Given the description of an element on the screen output the (x, y) to click on. 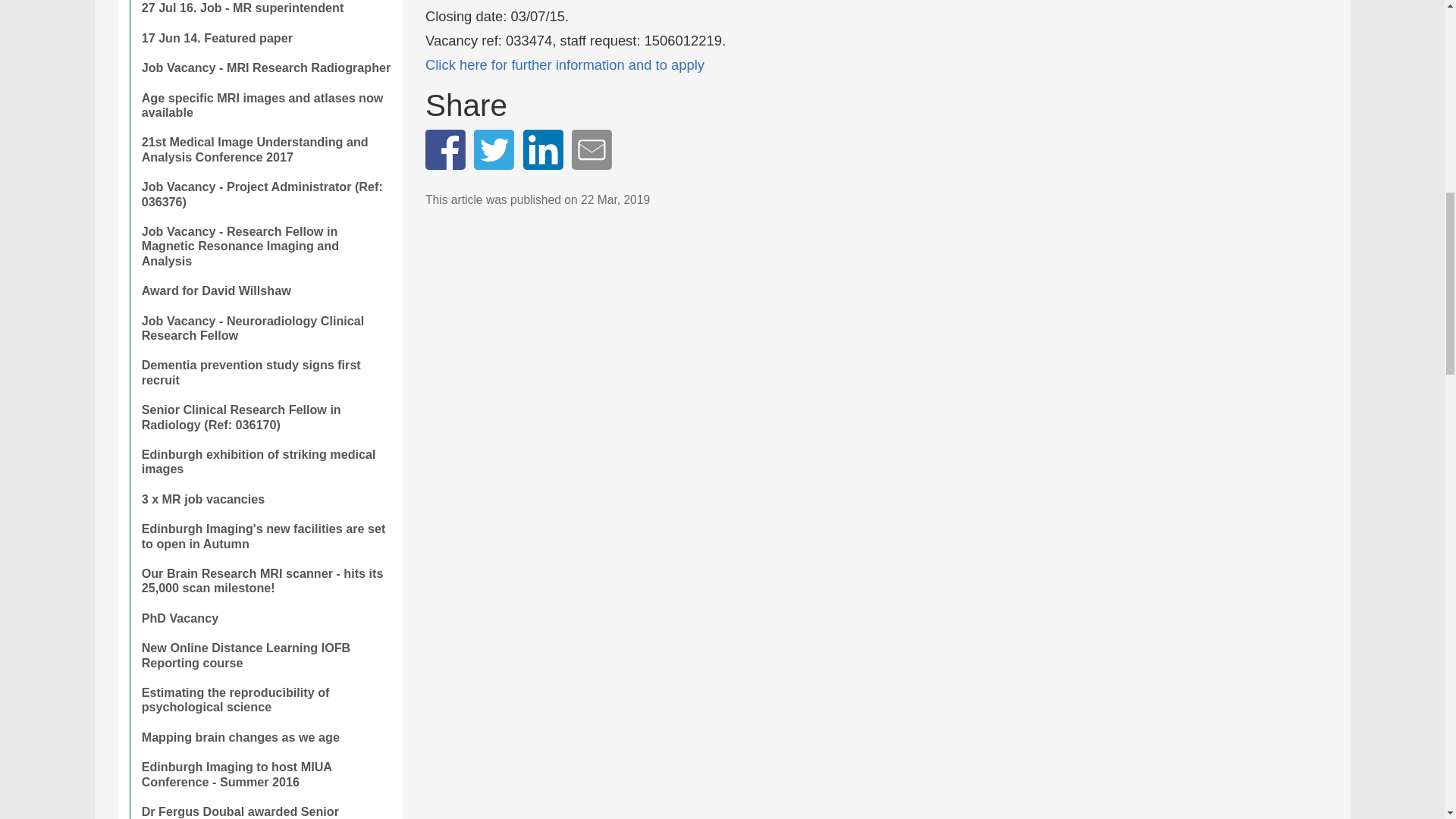
Award for David Willshaw (266, 290)
17 Jun 14. Featured paper (266, 38)
Age specific MRI images and atlases now available (266, 105)
Dementia prevention study signs first recruit (266, 372)
Edinburgh Imaging's new facilities are set to open in Autumn (266, 536)
27 Jul 16. Job - MR superintendent (266, 11)
Job Vacancy - Neuroradiology Clinical Research Fellow (266, 328)
Mapping brain changes as we age (266, 737)
